Given the description of an element on the screen output the (x, y) to click on. 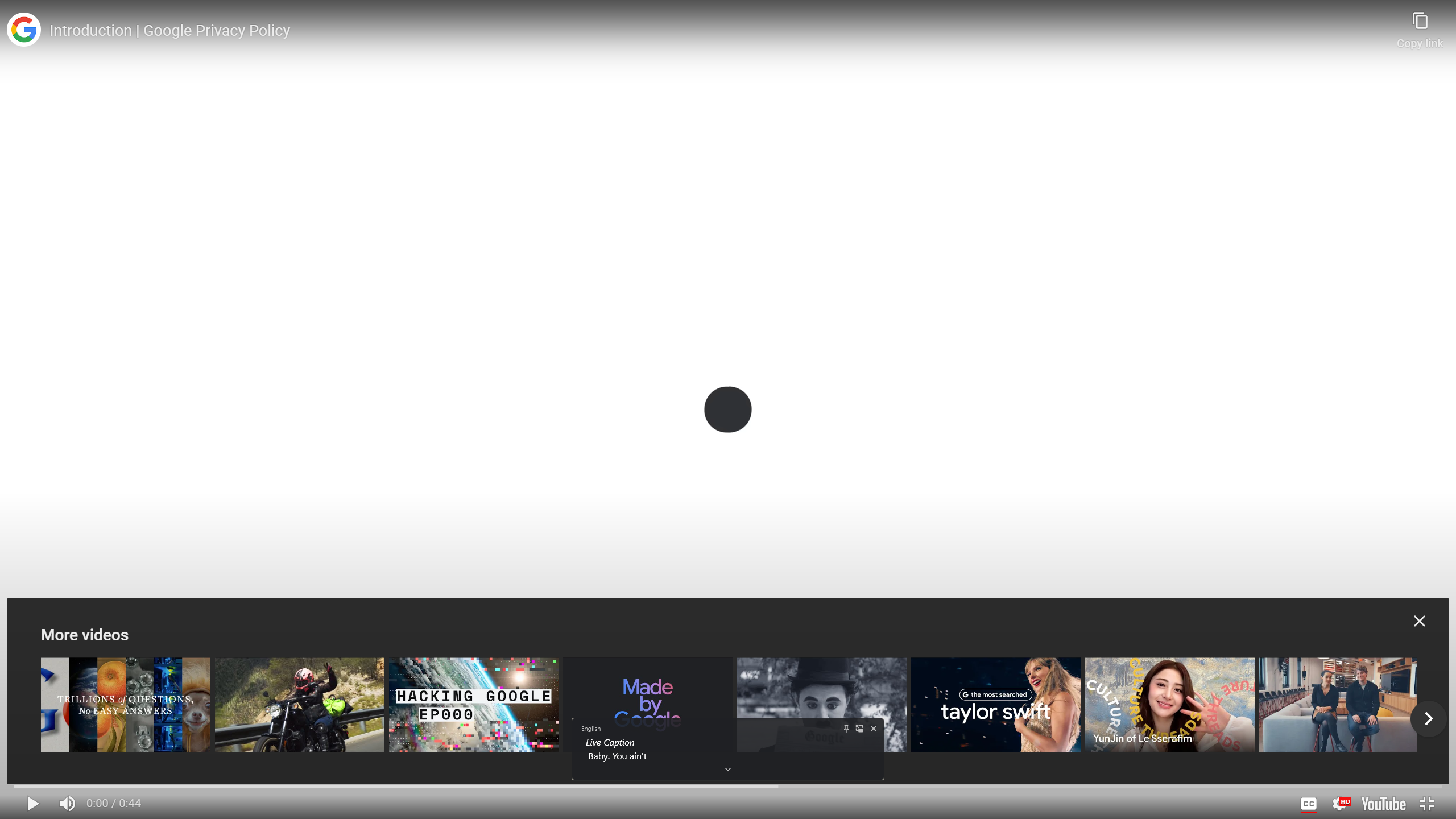
Photo image of Google (23, 29)
Pause keyboard shortcut k (32, 803)
Copy link (1419, 25)
Teachable Machine 2.0: Making AI easier for everyone (1343, 704)
Operation Aurora | HACKING GOOGLE | Documentary EP000 (473, 704)
Mute (m) (67, 803)
Seek slider (727, 786)
Exit full screen (f) (1427, 803)
Show more suggested videos (1428, 718)
Hide more videos (1419, 620)
The Guardians | SEARCH ON (299, 704)
